Given the description of an element on the screen output the (x, y) to click on. 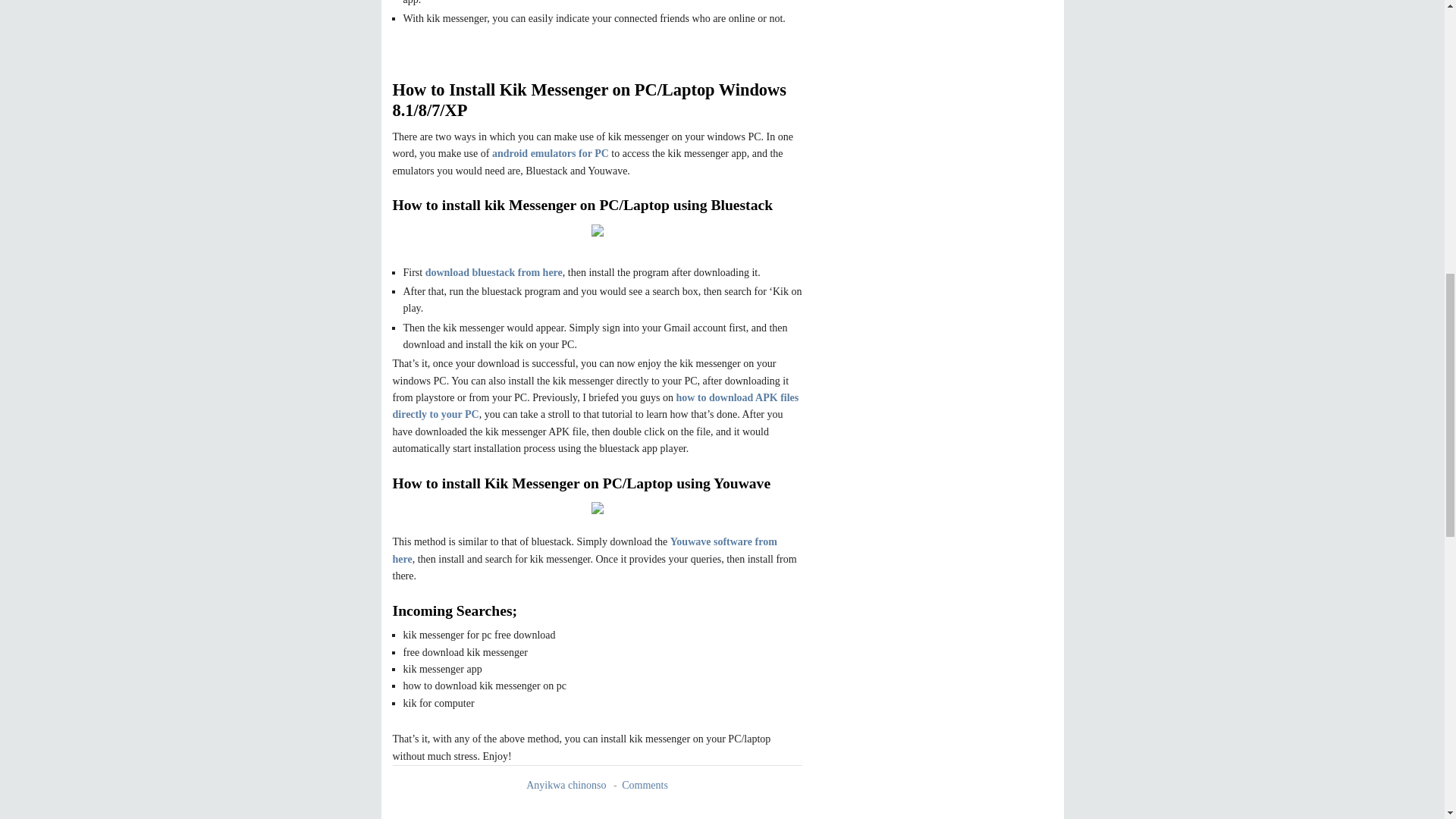
Anyikwa chinonso (566, 785)
Youwave software from here (585, 550)
android emulators for PC (550, 153)
author profile (566, 785)
download bluestack from here (493, 272)
how to download APK files directly to your PC (596, 406)
Comments (644, 785)
